Given the description of an element on the screen output the (x, y) to click on. 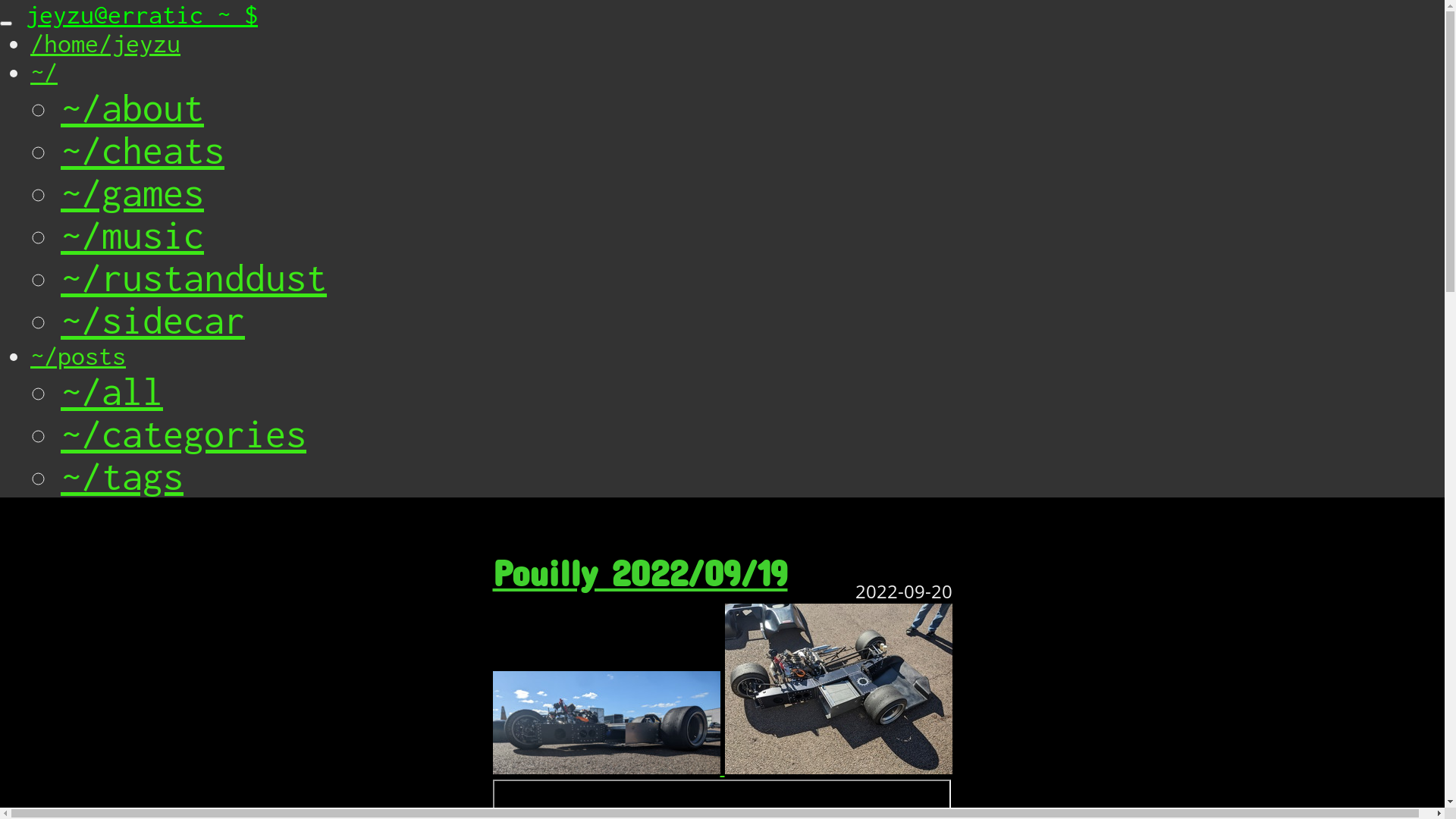
~/categories Element type: text (183, 433)
Pouilly 2022/09/19 Element type: text (639, 564)
~/rustanddust Element type: text (193, 277)
~/cheats Element type: text (142, 149)
~/tags Element type: text (121, 476)
~/music Element type: text (131, 234)
~/sidecar Element type: text (152, 319)
~/all Element type: text (111, 391)
jeyzu@erratic ~ $ Element type: text (141, 14)
~/games Element type: text (131, 192)
Toggle navigation Element type: text (6, 23)
~/about Element type: text (131, 107)
~/ Element type: text (43, 71)
/home/jeyzu Element type: text (105, 42)
~/posts Element type: text (77, 355)
